Given the description of an element on the screen output the (x, y) to click on. 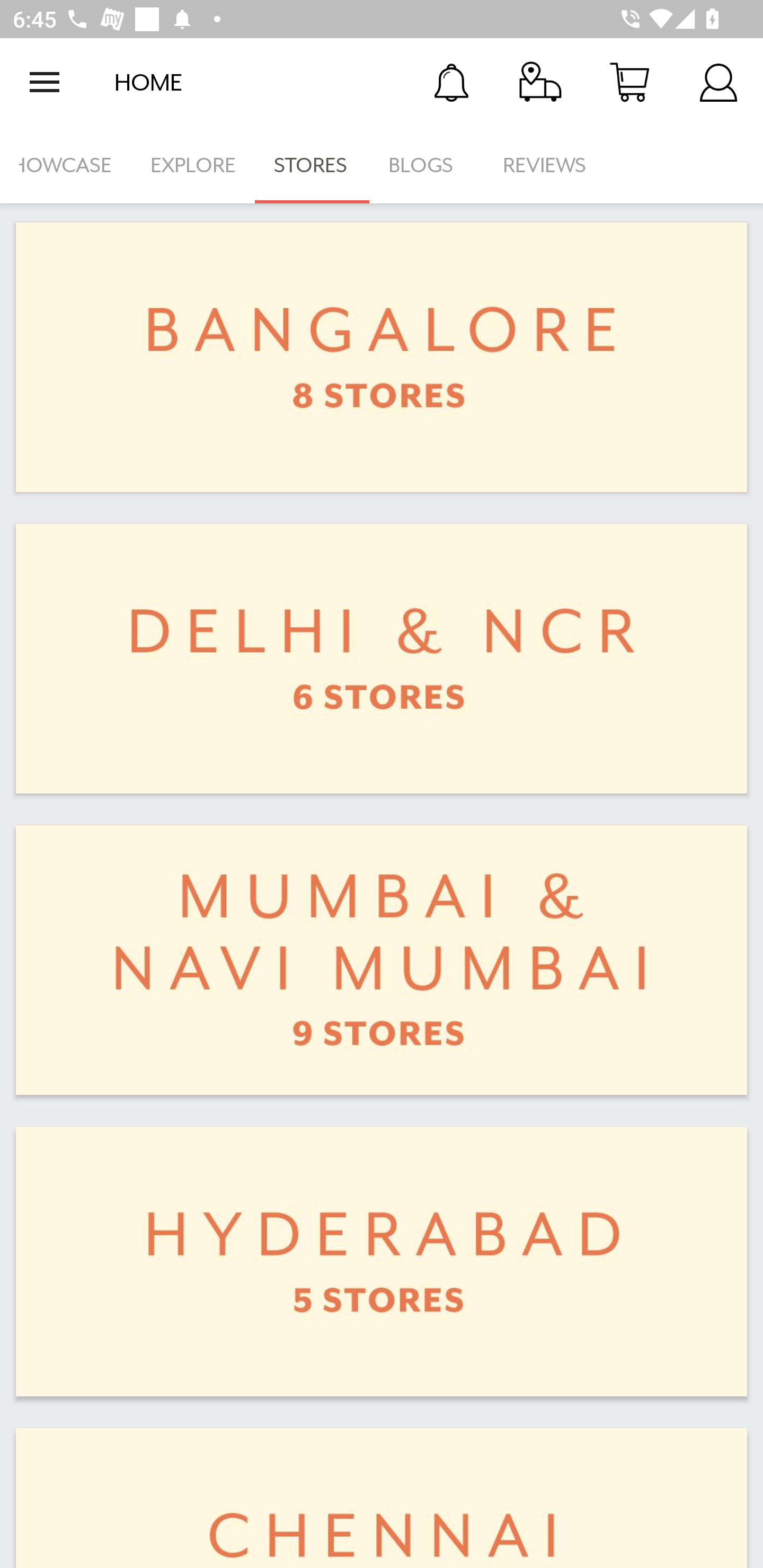
Open navigation drawer (44, 82)
Notification (450, 81)
Track Order (540, 81)
Cart (629, 81)
Account Details (718, 81)
SHOWCASE (65, 165)
EXPLORE (192, 165)
STORES (311, 165)
BLOGS (426, 165)
REVIEWS (544, 165)
